Given the description of an element on the screen output the (x, y) to click on. 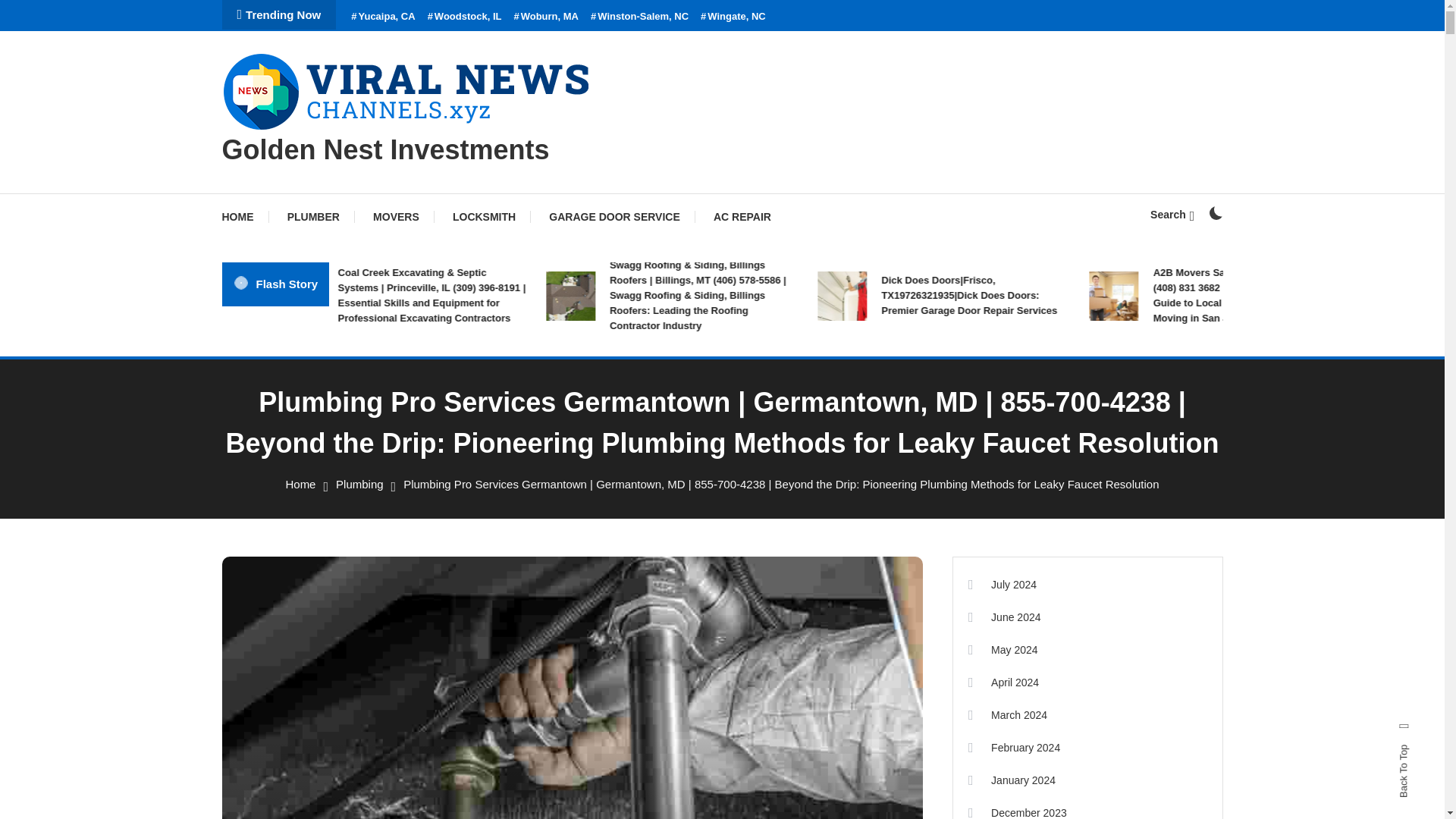
Plumbing (360, 483)
Woodstock, IL (465, 16)
Search (768, 434)
Yucaipa, CA (382, 16)
Search (1171, 214)
PLUMBER (313, 216)
MOVERS (395, 216)
Woburn, MA (545, 16)
LOCKSMITH (484, 216)
AC REPAIR (742, 216)
GARAGE DOOR SERVICE (614, 216)
Golden Nest Investments (384, 149)
Winston-Salem, NC (639, 16)
Home (300, 483)
HOME (244, 216)
